Given the description of an element on the screen output the (x, y) to click on. 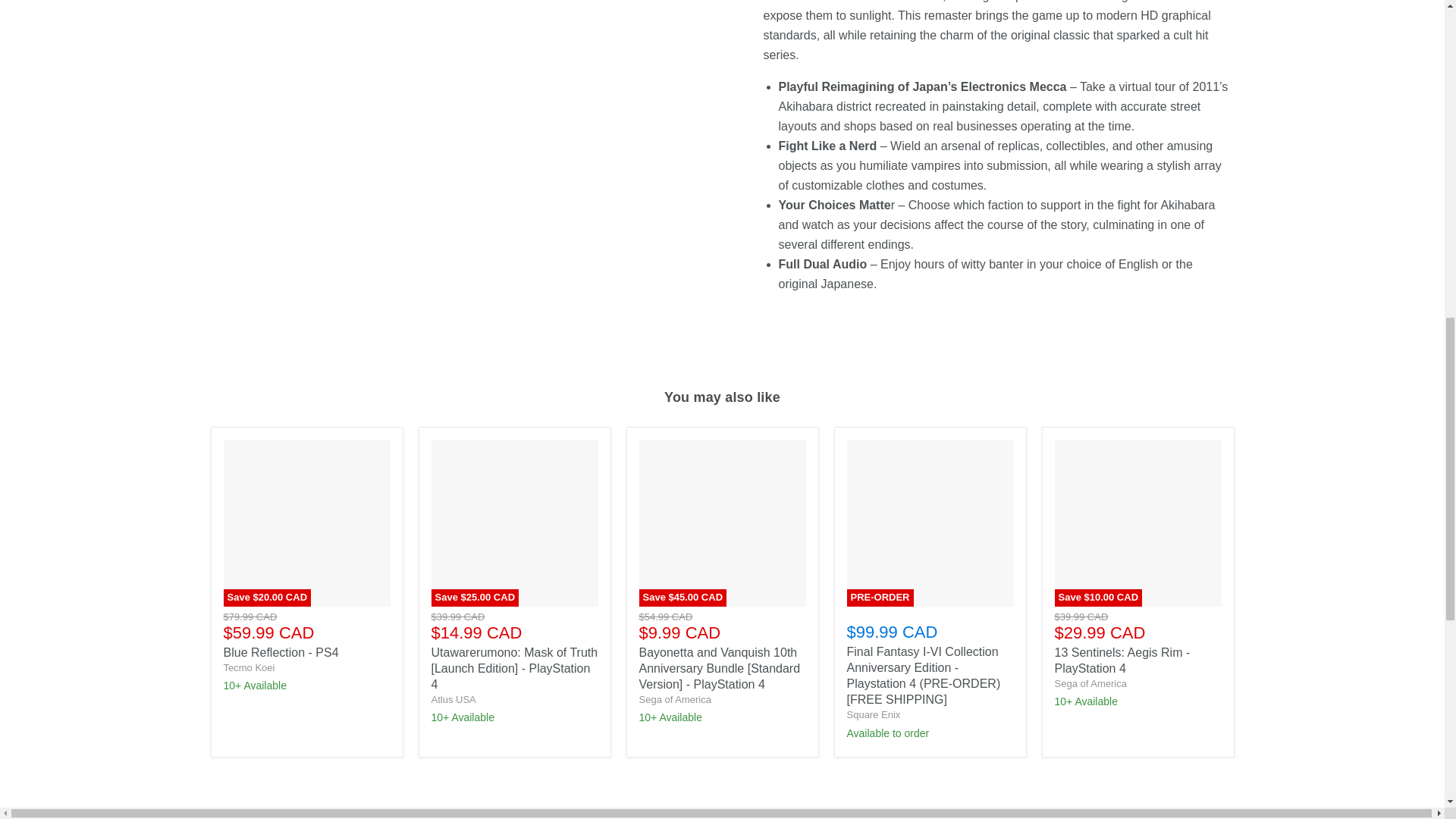
Tecmo Koei (248, 667)
Atlus USA (453, 699)
Sega of America (674, 699)
Sega of America (1089, 683)
Square Enix (872, 714)
